Given the description of an element on the screen output the (x, y) to click on. 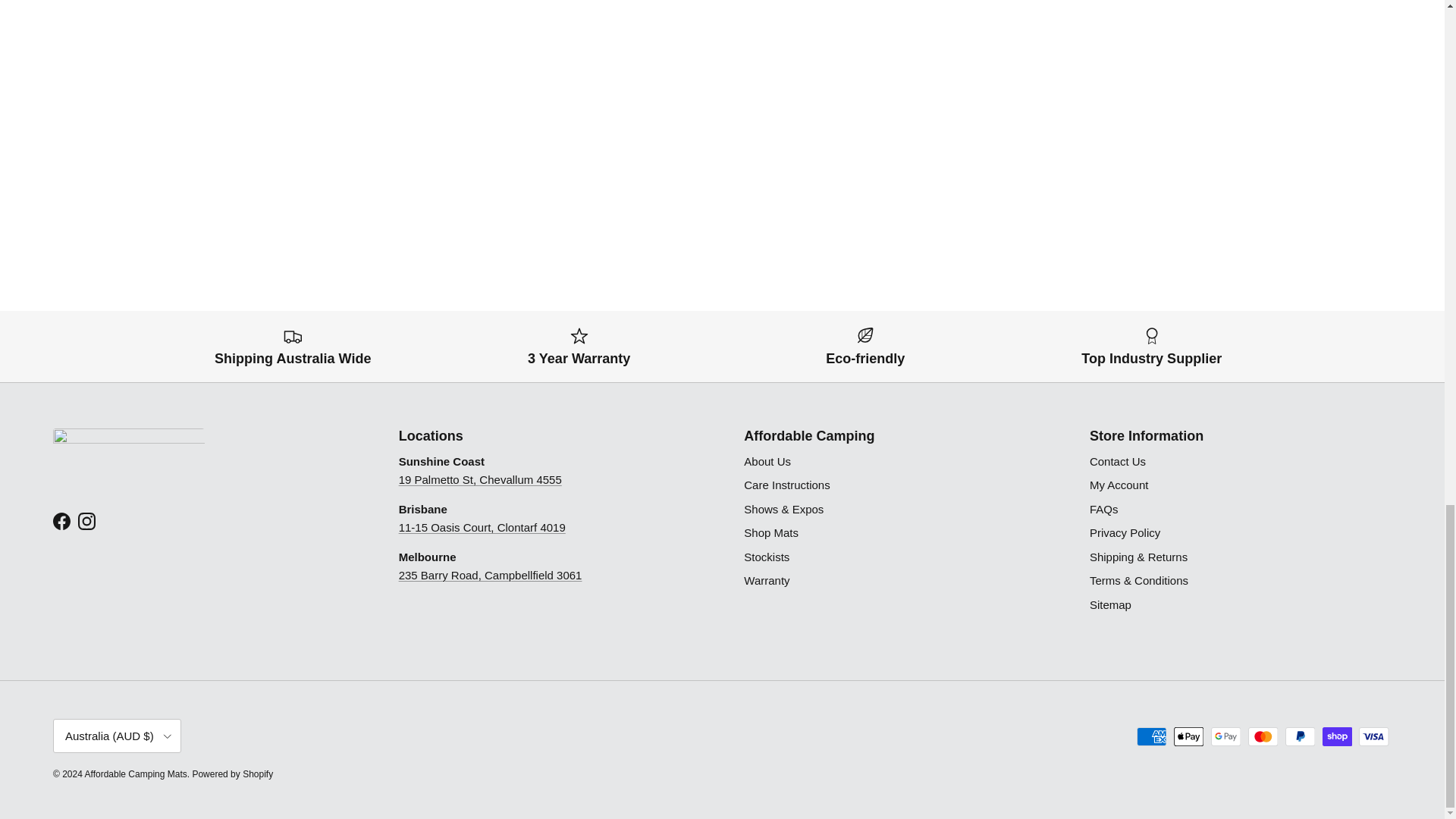
Visa (1373, 736)
Affordable Camping Mats on Facebook (60, 520)
Affordable Camping Mats on Instagram (87, 520)
19 Palmetto St, Chevallum (480, 479)
PayPal (1299, 736)
Shop Pay (1337, 736)
Apple Pay (1188, 736)
Mastercard (1262, 736)
Google Pay (1225, 736)
American Express (1151, 736)
